Given the description of an element on the screen output the (x, y) to click on. 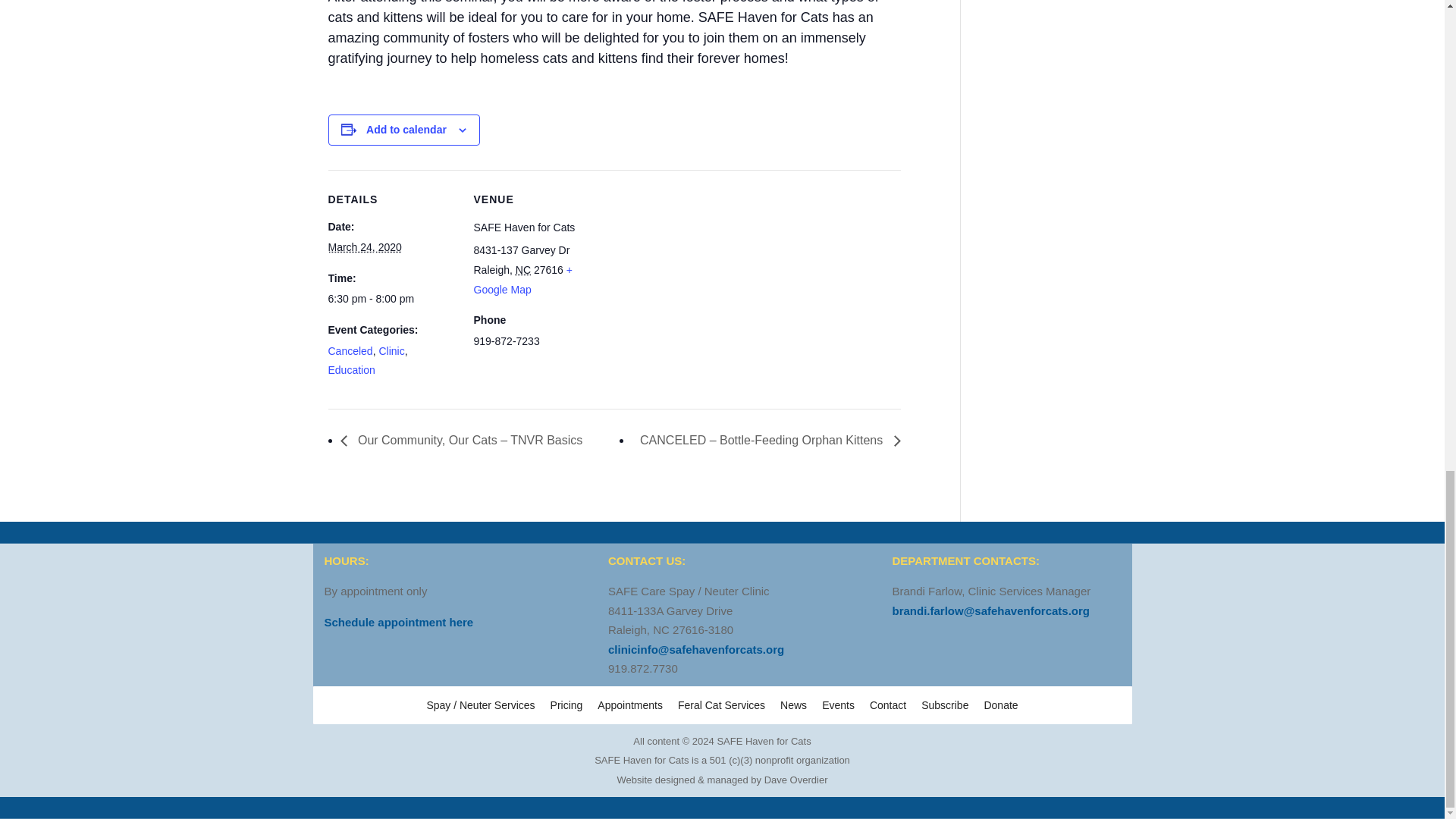
2020-03-24 (390, 299)
Click to view a Google Map (522, 279)
2020-03-24 (364, 246)
Add to calendar (406, 129)
North Carolina (523, 269)
